Given the description of an element on the screen output the (x, y) to click on. 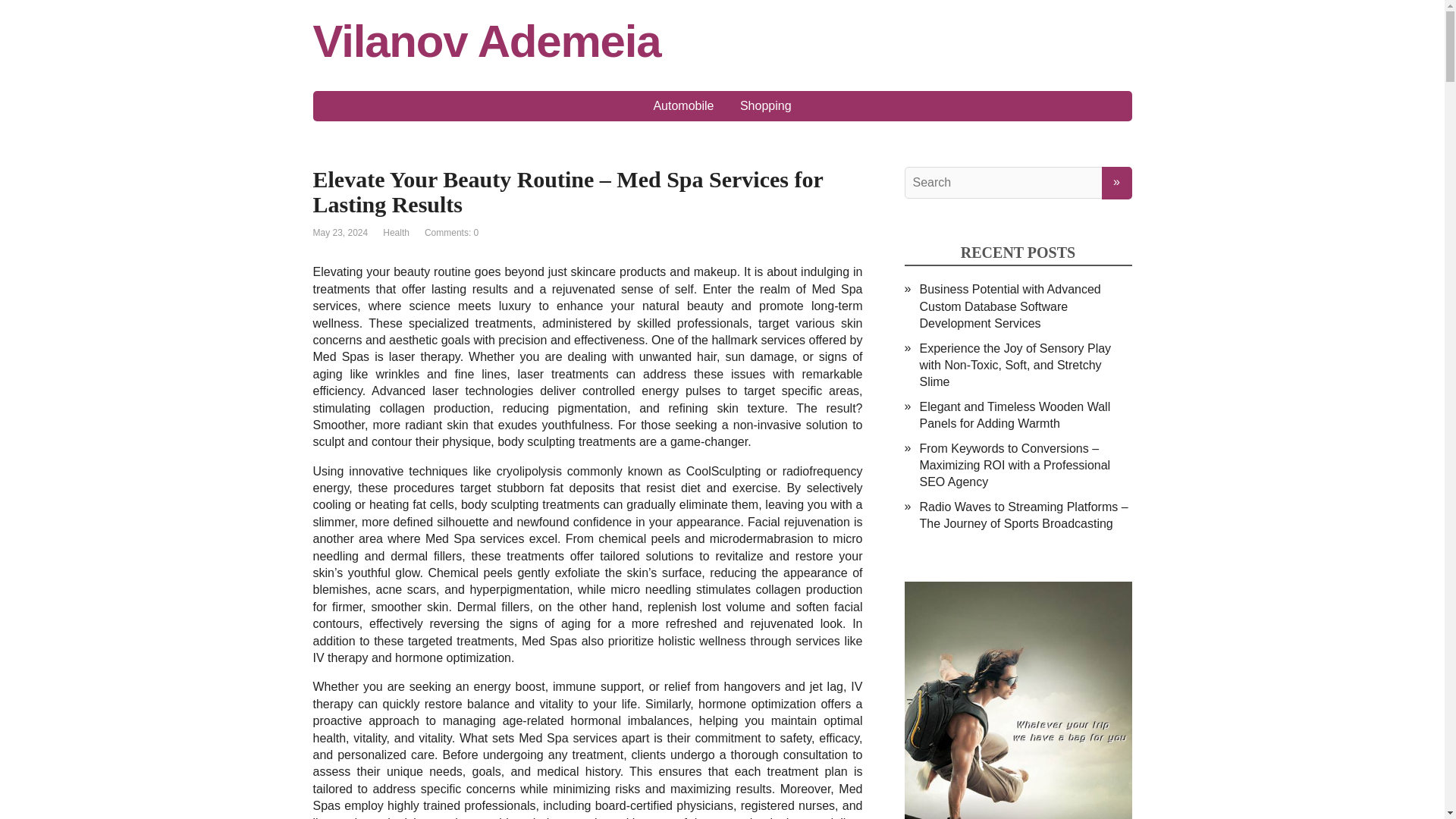
Comments: 0 (452, 232)
Health (395, 232)
Vilanov Ademeia (722, 41)
Shopping (766, 105)
Automobile (683, 105)
